Given the description of an element on the screen output the (x, y) to click on. 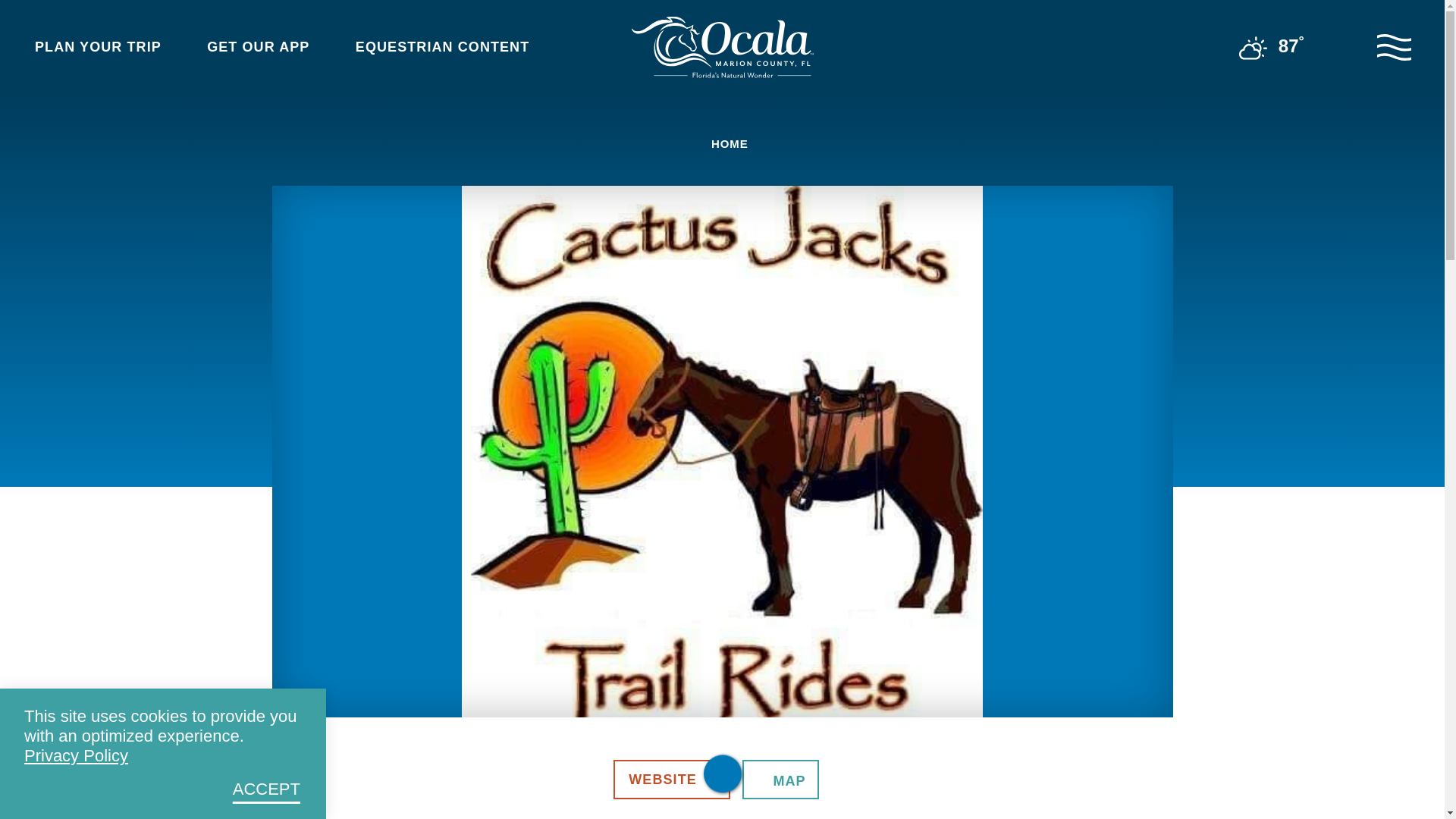
PLAN YOUR TRIP (106, 46)
Skip to content (17, 15)
MAP (780, 779)
HOME (724, 143)
WEBSITE (671, 779)
EQUESTRIAN CONTENT (451, 46)
GET OUR APP (267, 46)
